Given the description of an element on the screen output the (x, y) to click on. 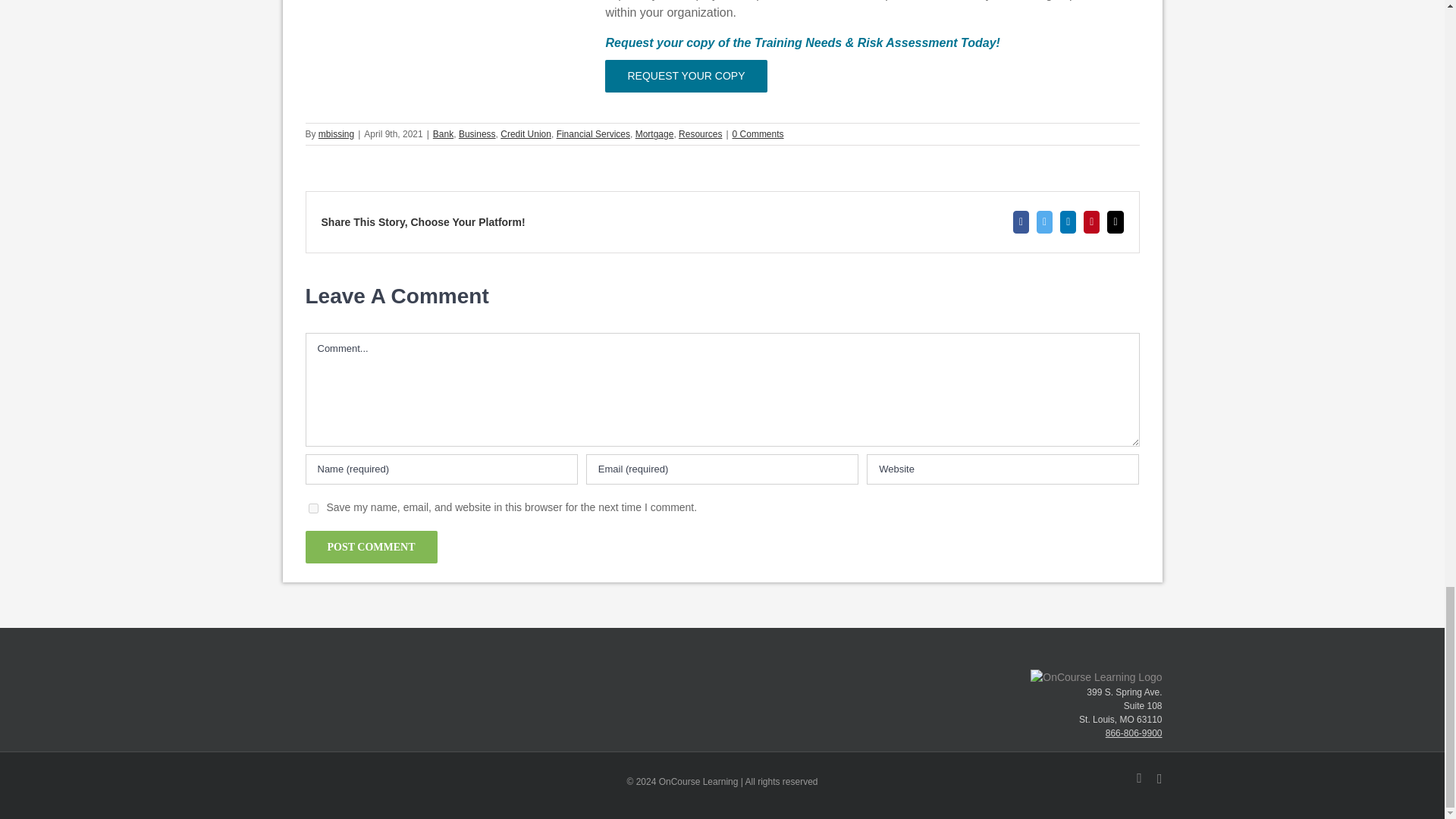
Post Comment (370, 546)
yes (312, 508)
Posts by mbissing (335, 133)
